Given the description of an element on the screen output the (x, y) to click on. 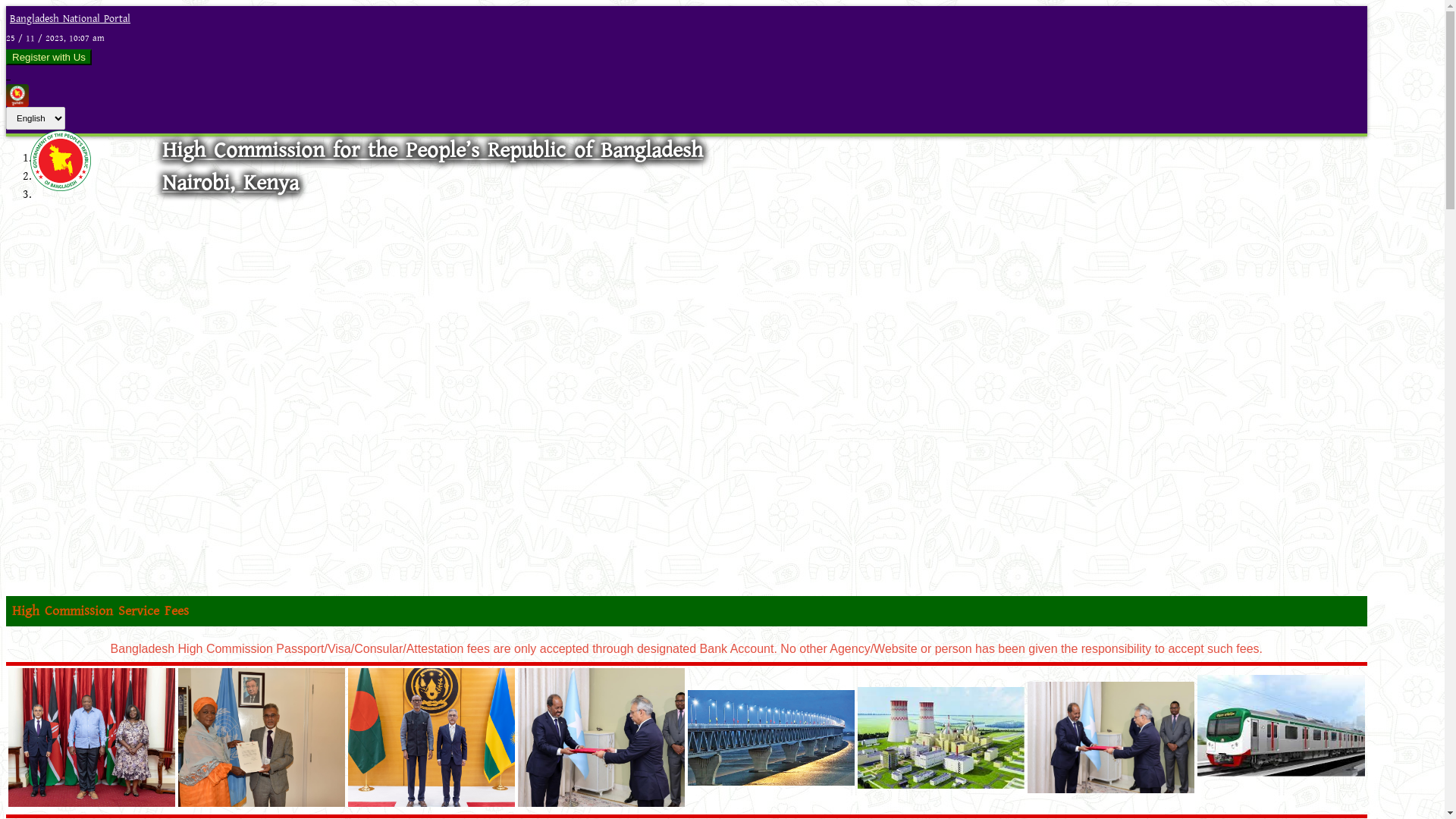
Register with Us Element type: text (48, 56)
Logo Element type: hover (60, 186)
Bangladesh National Portal Element type: text (68, 18)
Register with Us Element type: text (48, 57)
